Given the description of an element on the screen output the (x, y) to click on. 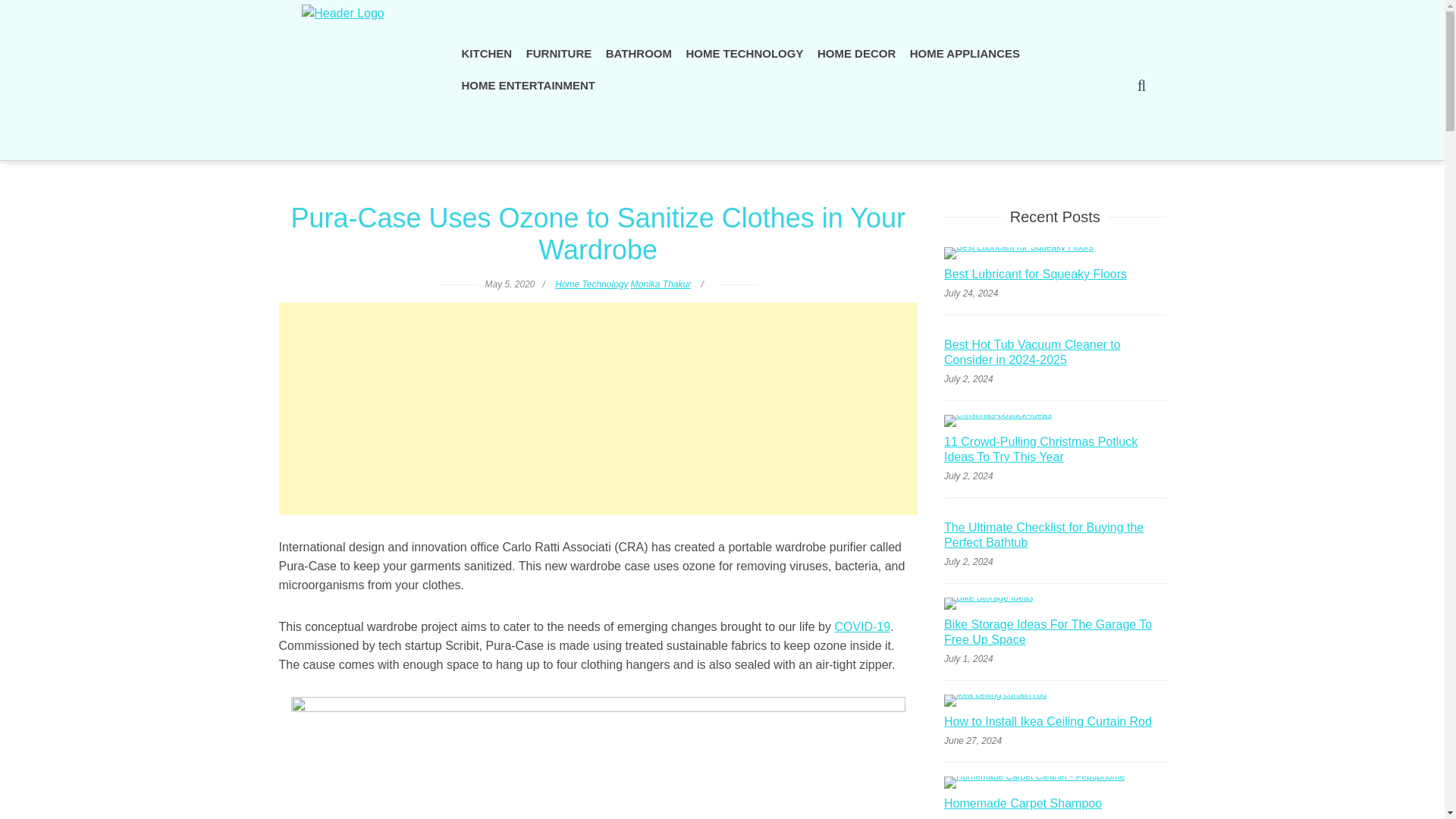
HOME DECOR (856, 53)
11 Crowd-Pulling Christmas Potluck Ideas To Try This Year (1054, 451)
How to Install Ikea Ceiling Curtain Rod (1047, 723)
HOME APPLIANCES (964, 53)
Best Hot Tub Vacuum Cleaner to Consider in 2024-2025 (1054, 354)
Best Lubricant for Squeaky Floors (1034, 275)
FURNITURE (558, 53)
HOME ENTERTAINMENT (528, 85)
Monika Thakur (660, 284)
Home Technology (590, 284)
KITCHEN (487, 53)
COVID-19 (861, 626)
Homemade Carpet Shampoo (1022, 805)
The Ultimate Checklist for Buying the Perfect Bathtub (1054, 537)
Bike Storage Ideas For The Garage To Free Up Space (1054, 634)
